Given the description of an element on the screen output the (x, y) to click on. 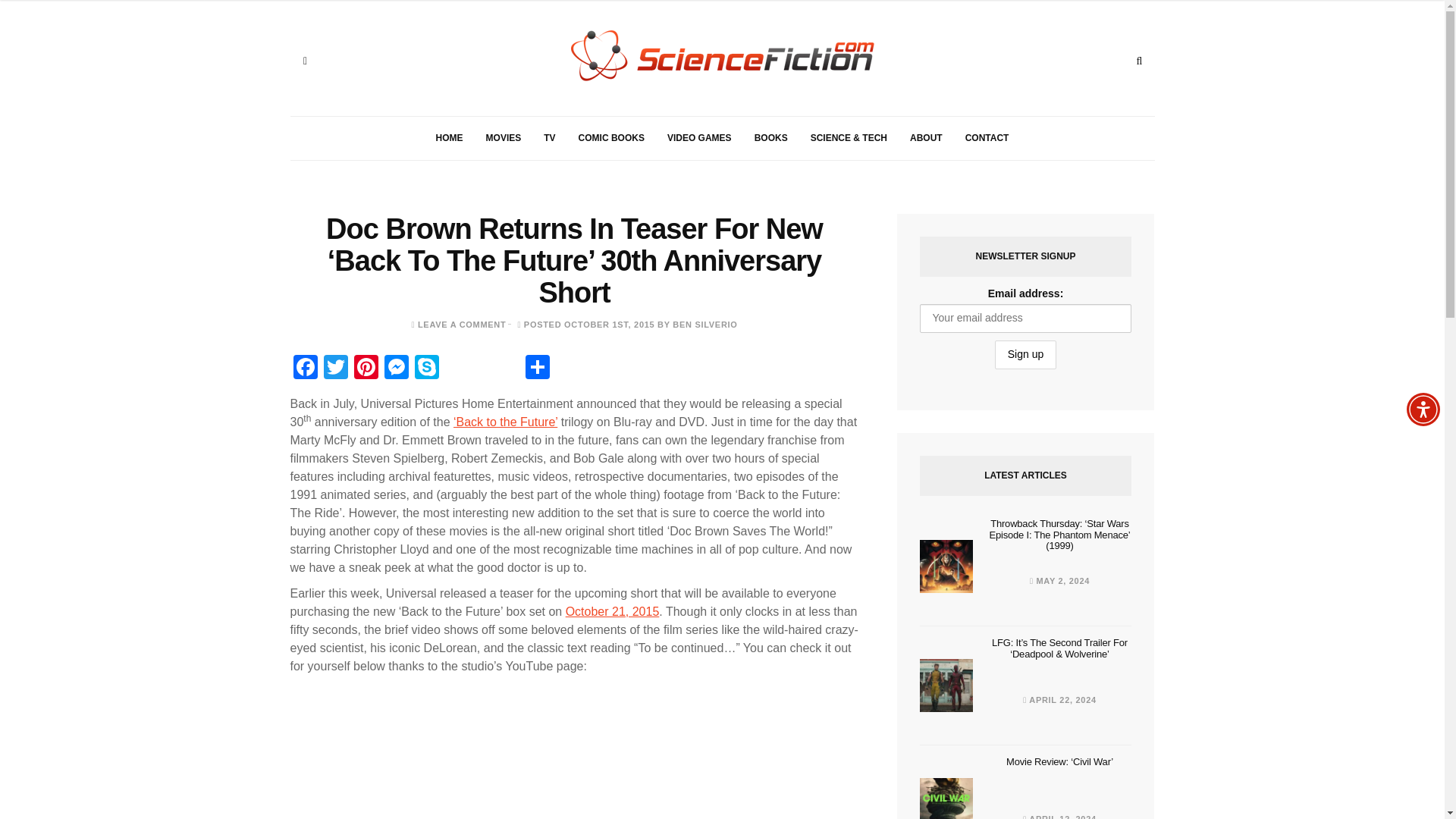
MOVIES (503, 138)
BOOKS (770, 138)
Twitter (335, 368)
ABOUT (925, 138)
Accessibility Menu (1422, 409)
HOME (449, 138)
CONTACT (986, 138)
VIDEO GAMES (699, 138)
Search (1139, 60)
Facebook (304, 368)
